Given the description of an element on the screen output the (x, y) to click on. 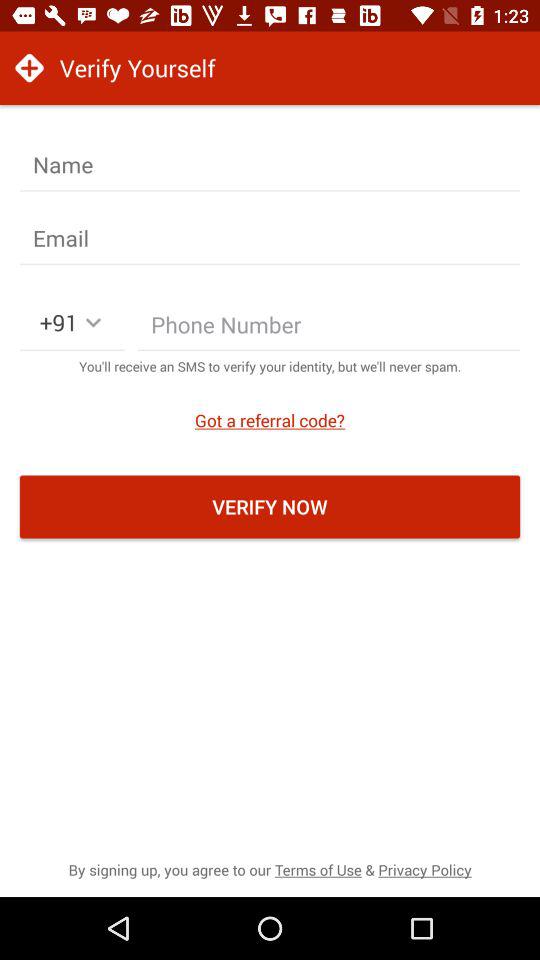
tap by signing up item (270, 869)
